Given the description of an element on the screen output the (x, y) to click on. 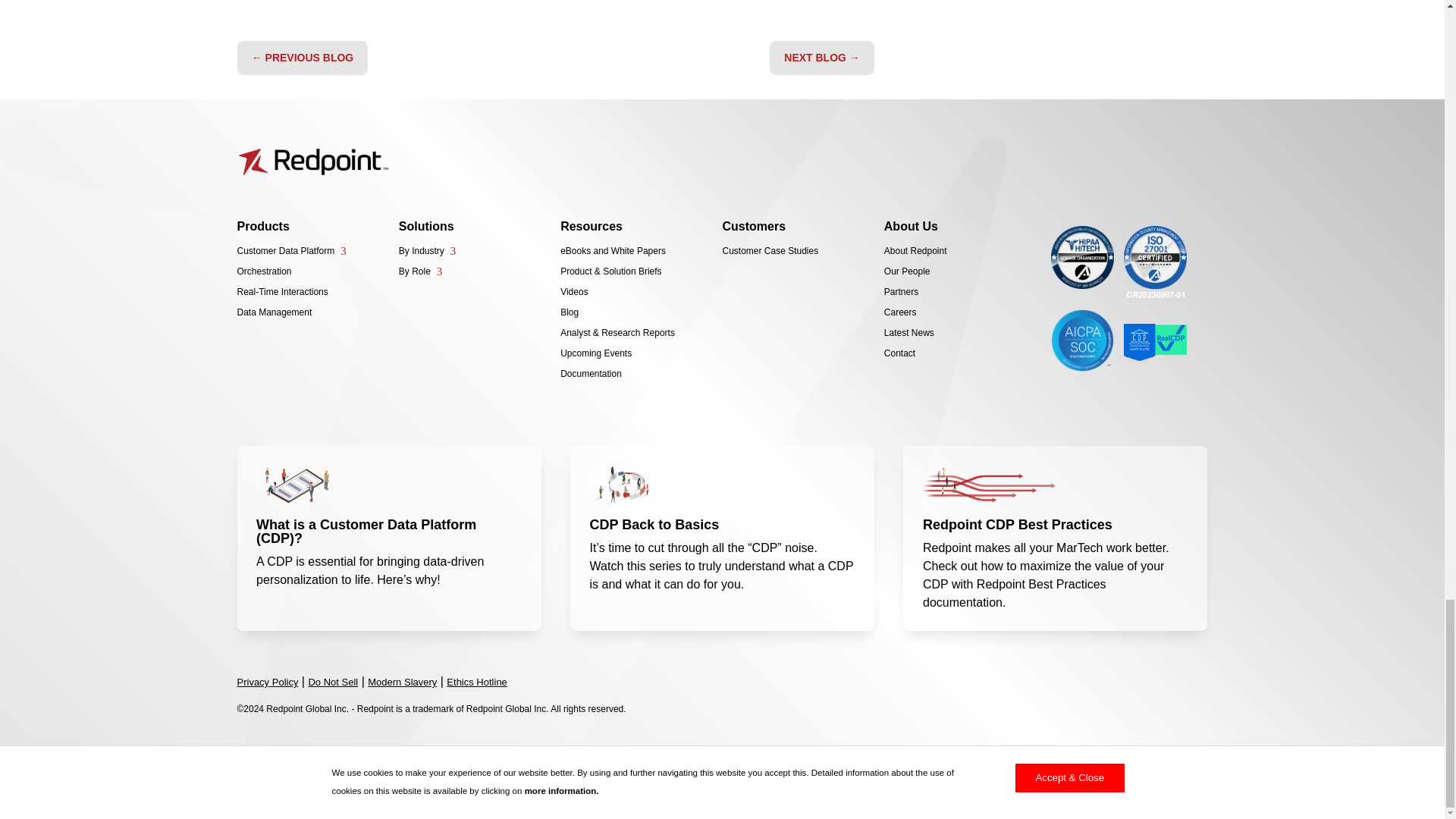
Follow on X (274, 789)
21972 312 Soc Noncpa (1082, 340)
Follow on Youtube (328, 789)
Dl2048 Cdpi Realcdp Certification Program 1024x603 (1155, 342)
360 Advanced Hipaa Seal Of Completion 2 (1082, 257)
Footer Backtobasics 2 (655, 485)
Full H Rpg Logo (311, 162)
Best Practices 2 (989, 485)
Follow on LinkedIn (302, 789)
Whats A Cdp (322, 485)
